Given the description of an element on the screen output the (x, y) to click on. 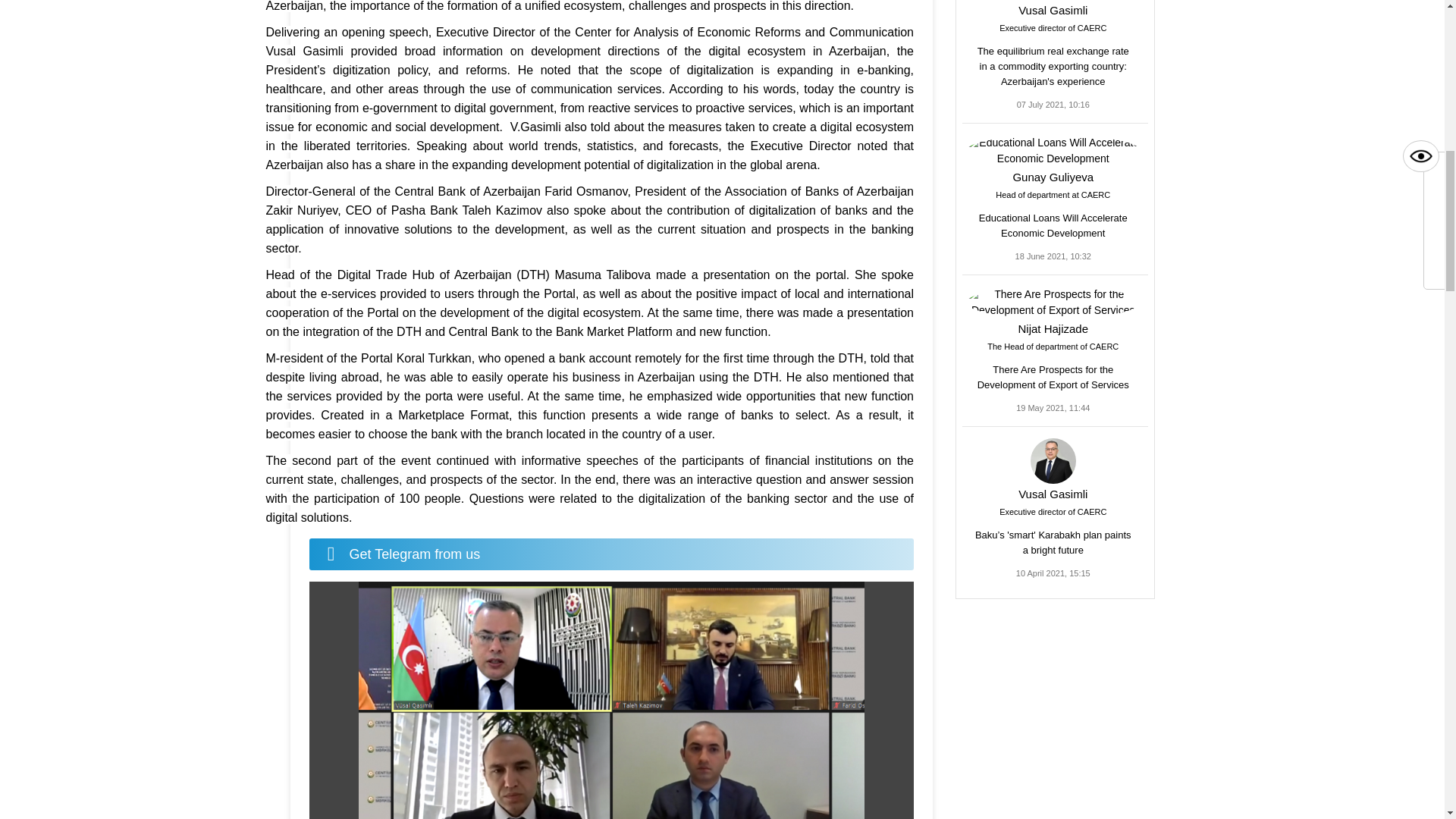
Educational Loans Will Accelerate Economic Development  (1052, 225)
Educational Loans Will Accelerate Economic Development  (1053, 173)
